Given the description of an element on the screen output the (x, y) to click on. 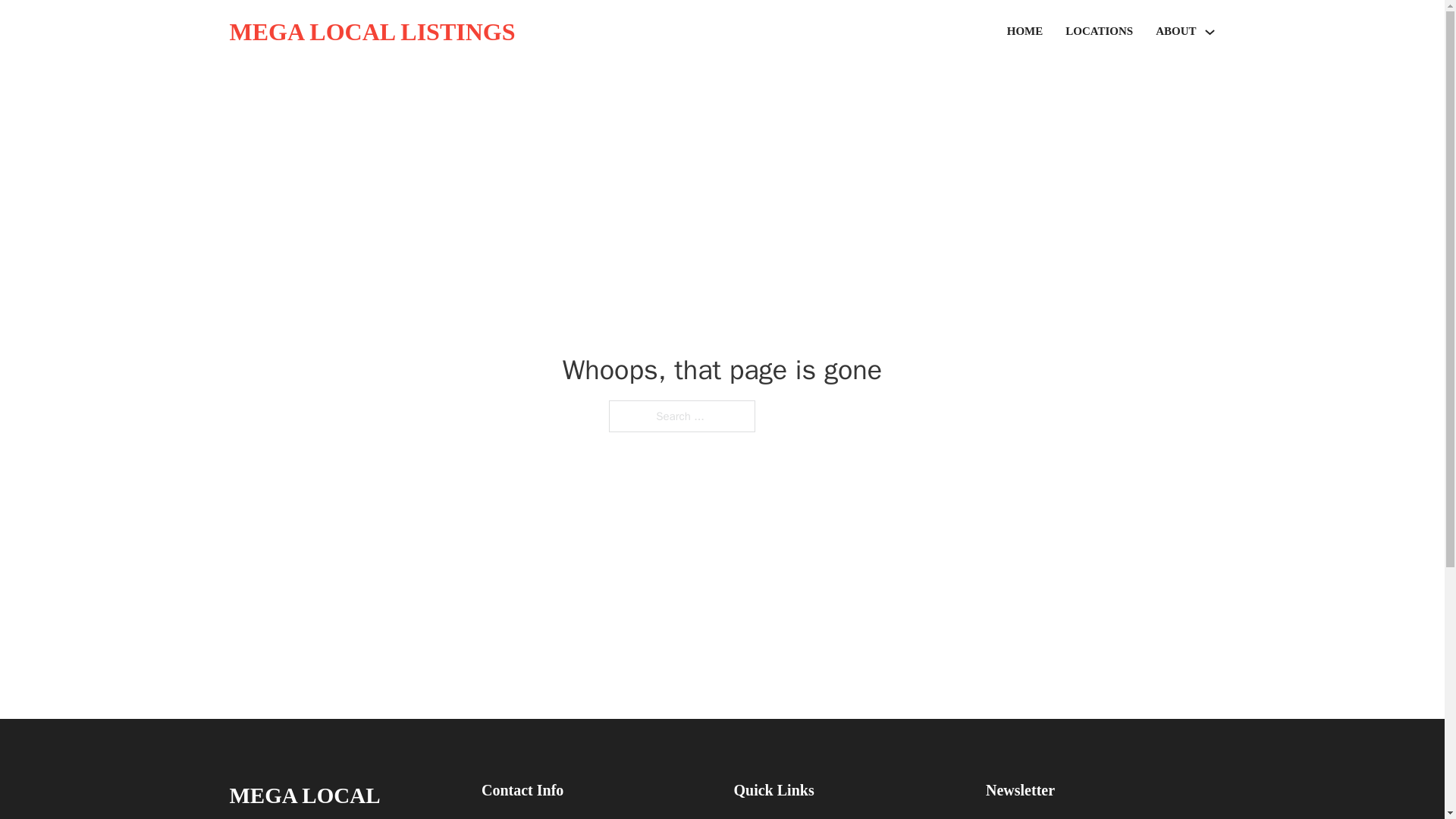
HOME (1025, 31)
MEGA LOCAL LISTINGS (343, 798)
MEGA LOCAL LISTINGS (371, 31)
LOCATIONS (1098, 31)
